Given the description of an element on the screen output the (x, y) to click on. 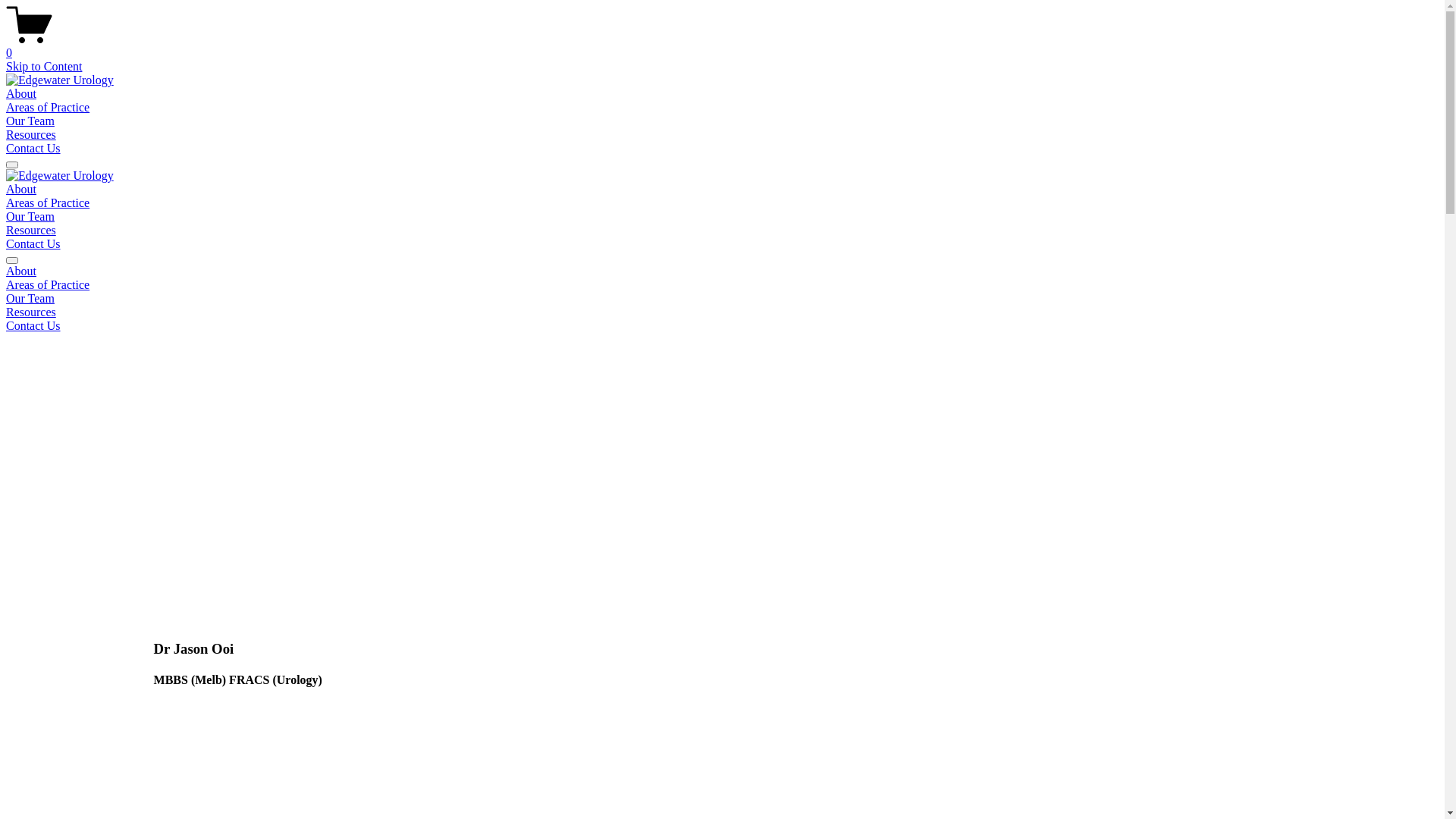
Areas of Practice Element type: text (722, 284)
Resources Element type: text (31, 134)
Areas of Practice Element type: text (47, 106)
Areas of Practice Element type: text (47, 202)
Resources Element type: text (722, 312)
Resources Element type: text (31, 229)
About Element type: text (722, 271)
Skip to Content Element type: text (43, 65)
Contact Us Element type: text (722, 325)
Our Team Element type: text (30, 120)
Our Team Element type: text (722, 298)
0 Element type: text (722, 45)
Contact Us Element type: text (33, 243)
About Element type: text (21, 93)
Our Team Element type: text (30, 216)
Contact Us Element type: text (33, 147)
About Element type: text (21, 188)
